Given the description of an element on the screen output the (x, y) to click on. 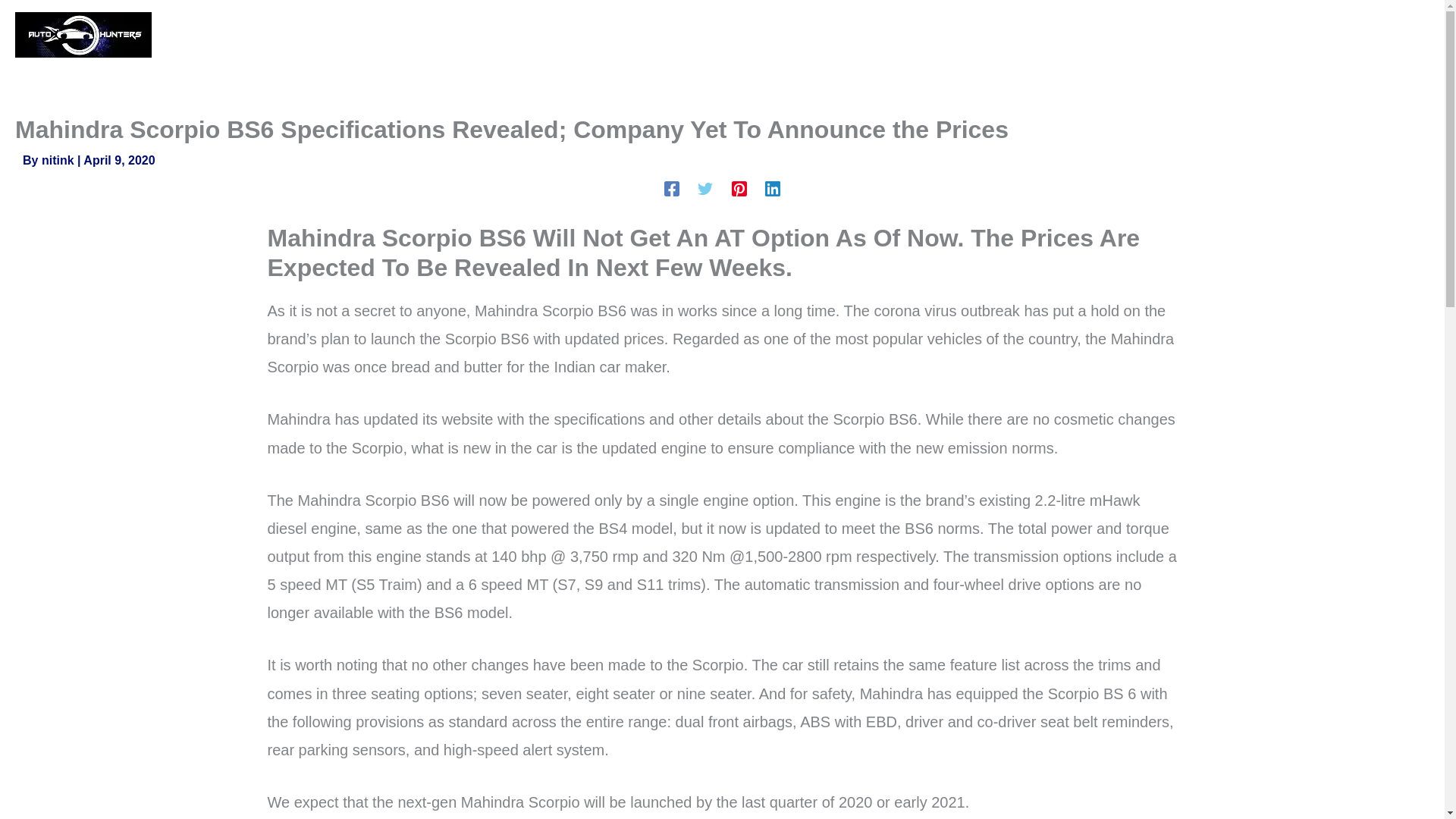
Electric Vehicles (1322, 34)
nitink (59, 160)
Home (905, 34)
Comparisons (1075, 34)
News (976, 34)
View all posts by nitink (59, 160)
